Given the description of an element on the screen output the (x, y) to click on. 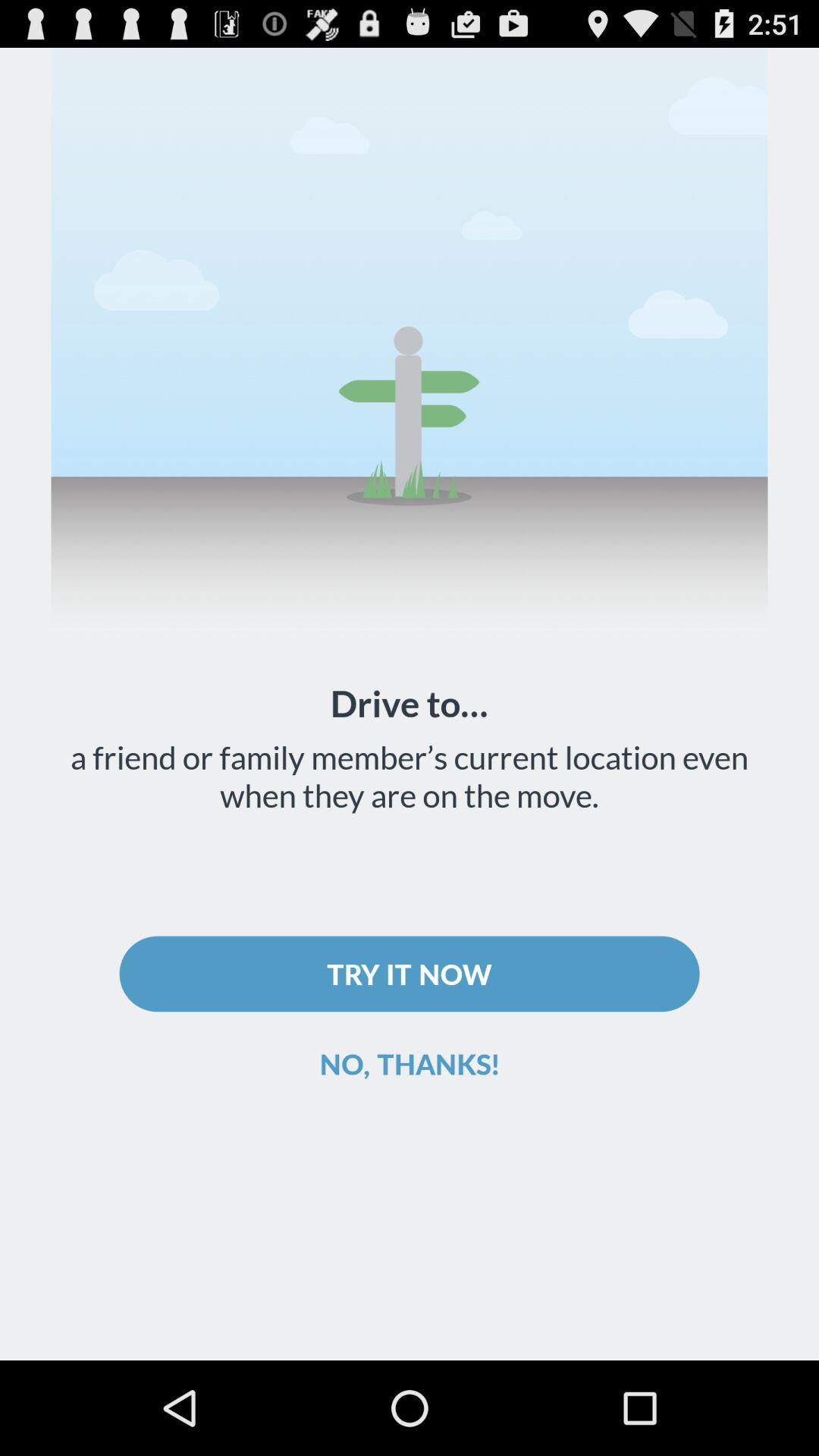
swipe until try it now icon (409, 973)
